Given the description of an element on the screen output the (x, y) to click on. 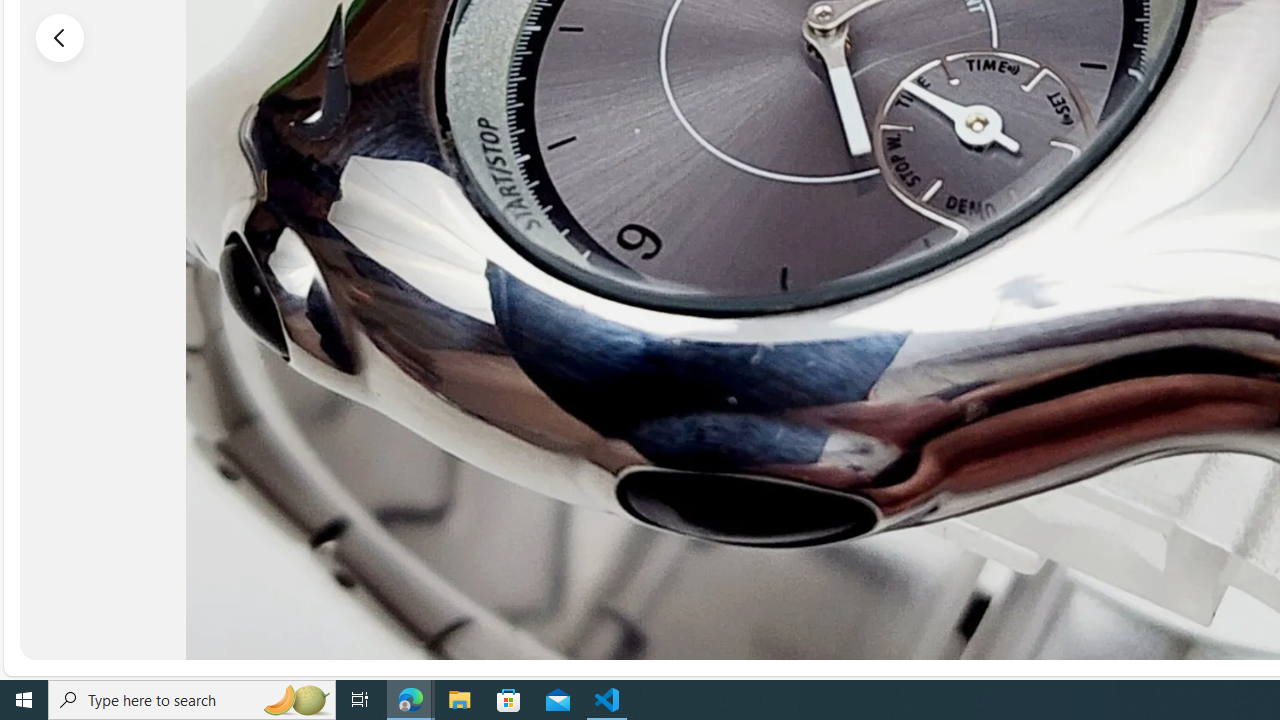
Previous image - Item images thumbnails (59, 37)
